Given the description of an element on the screen output the (x, y) to click on. 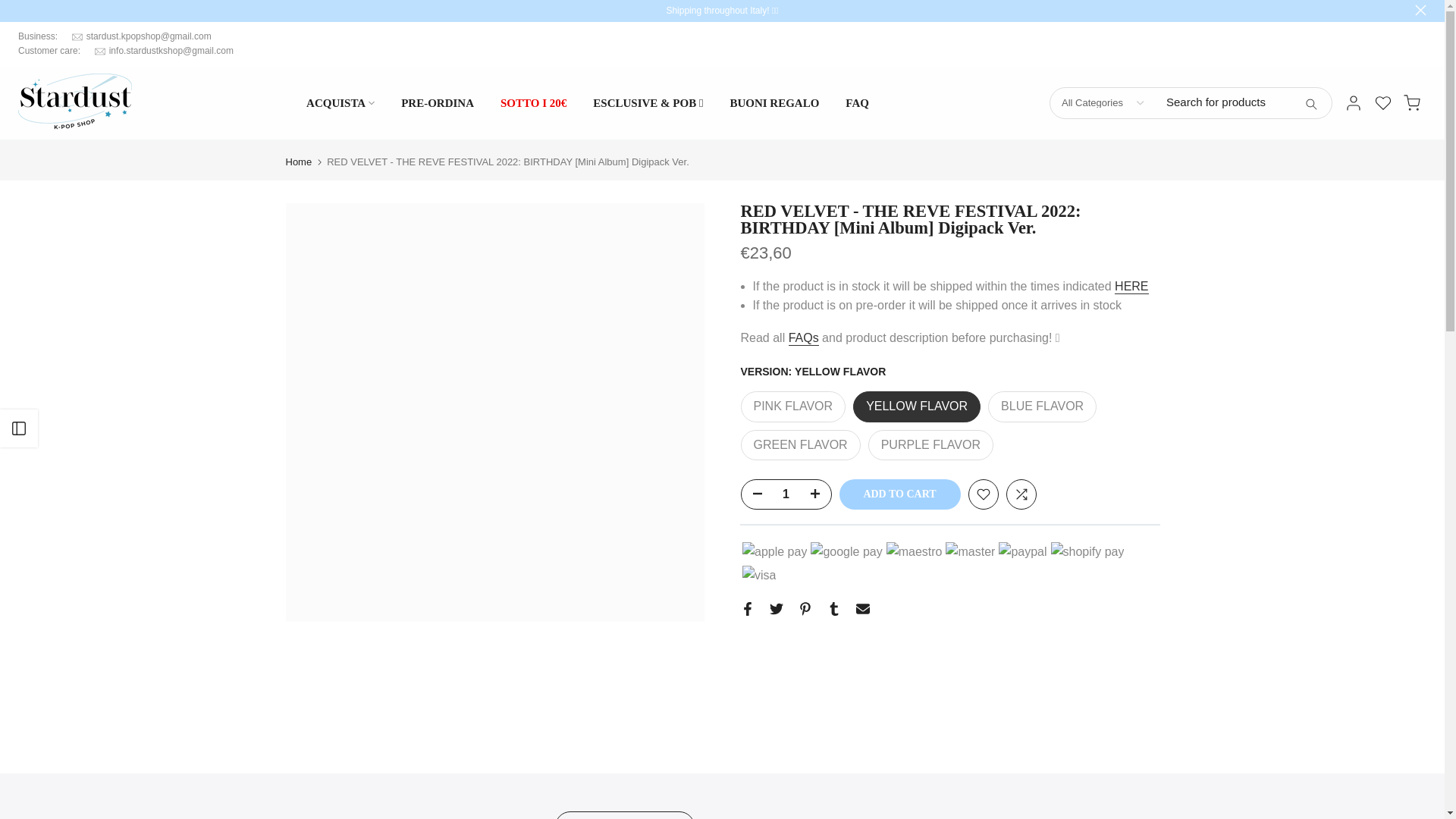
FAQ (857, 103)
1 (786, 493)
PRE-ORDINA (437, 103)
ADD TO CART (898, 494)
Shipping (1131, 287)
Share on Twitter (775, 608)
FAQs (803, 338)
ACQUISTA (341, 103)
BUONI REGALO (774, 103)
close (1420, 9)
